Given the description of an element on the screen output the (x, y) to click on. 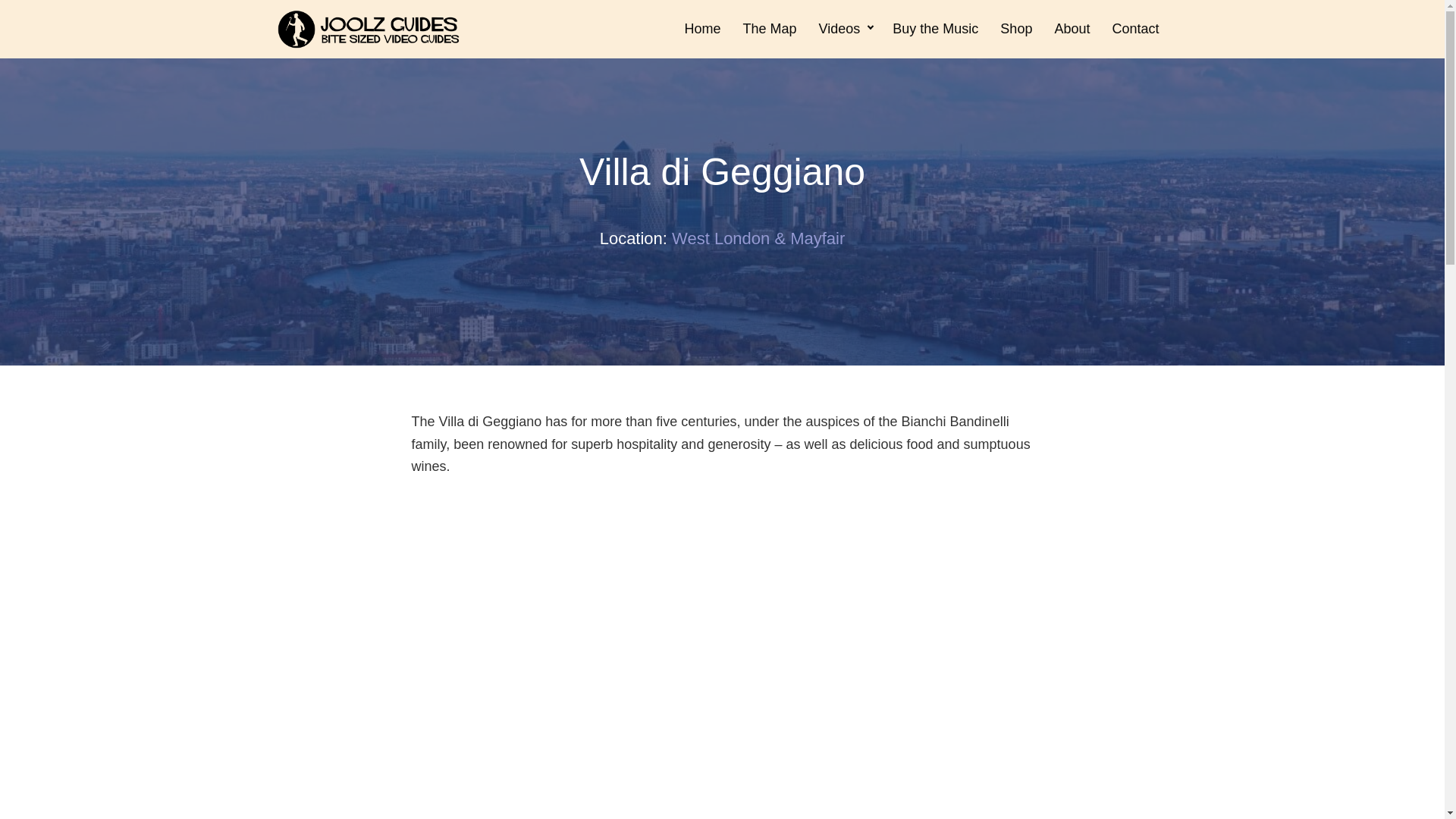
Shop (1016, 28)
Videos (845, 28)
The Map (770, 28)
Contact (1134, 28)
Buy the Music (935, 28)
joolz-logo-black (368, 28)
About (1071, 28)
Home (703, 28)
